Given the description of an element on the screen output the (x, y) to click on. 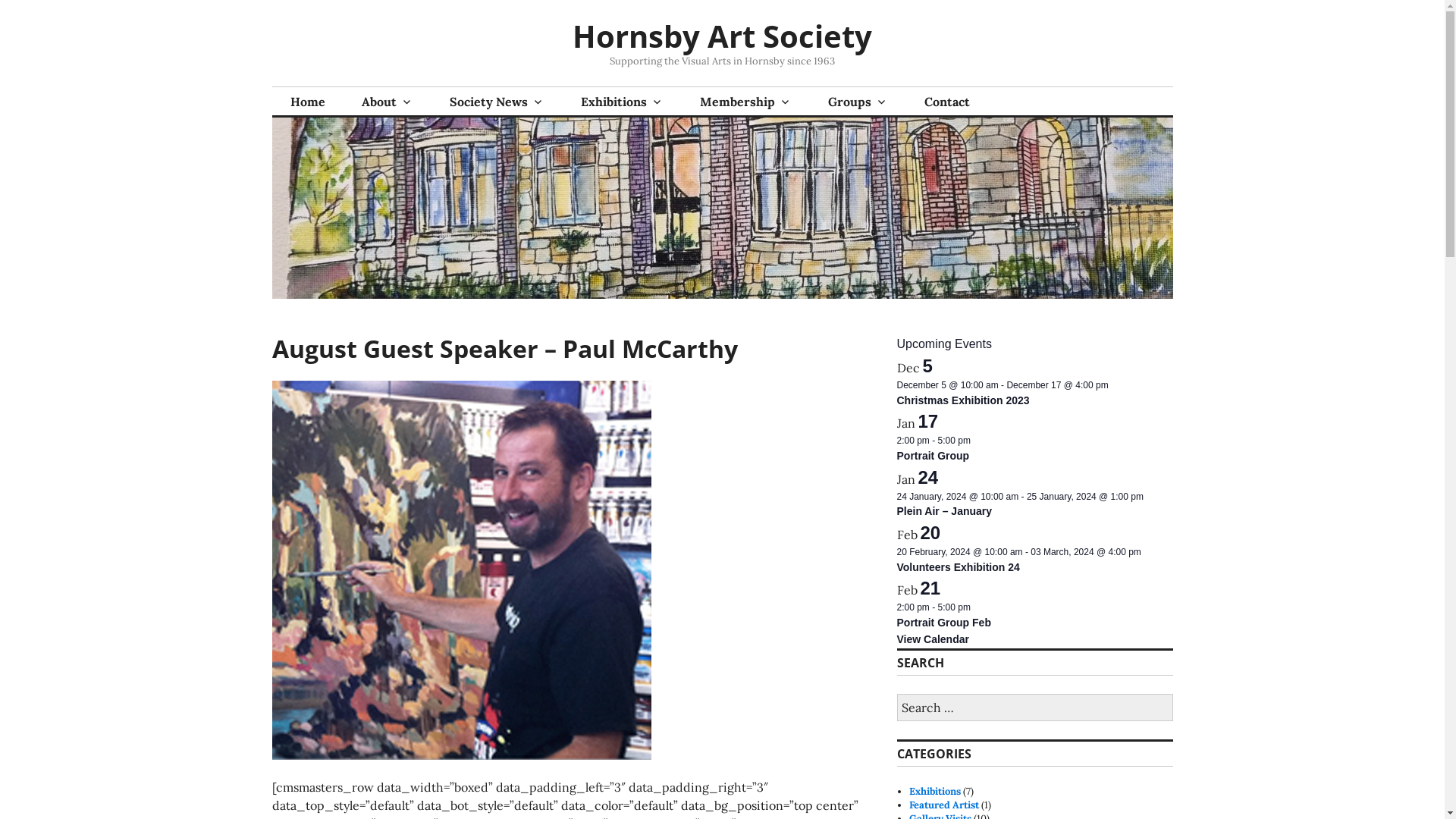
Portrait Group Element type: text (932, 455)
Membership Element type: text (744, 101)
View Calendar Element type: text (932, 639)
Featured Artist Element type: text (944, 804)
Exhibitions Element type: text (621, 101)
Home Element type: text (306, 101)
Hornsby Art Society Element type: text (722, 35)
Society News Element type: text (495, 101)
Contact Element type: text (946, 101)
Groups Element type: text (857, 101)
About Element type: text (386, 101)
Christmas Exhibition 2023 Element type: text (962, 400)
Search Element type: text (9, 4)
Volunteers Exhibition 24 Element type: text (957, 567)
Exhibitions Element type: text (934, 790)
Portrait Group Feb Element type: text (943, 622)
